Given the description of an element on the screen output the (x, y) to click on. 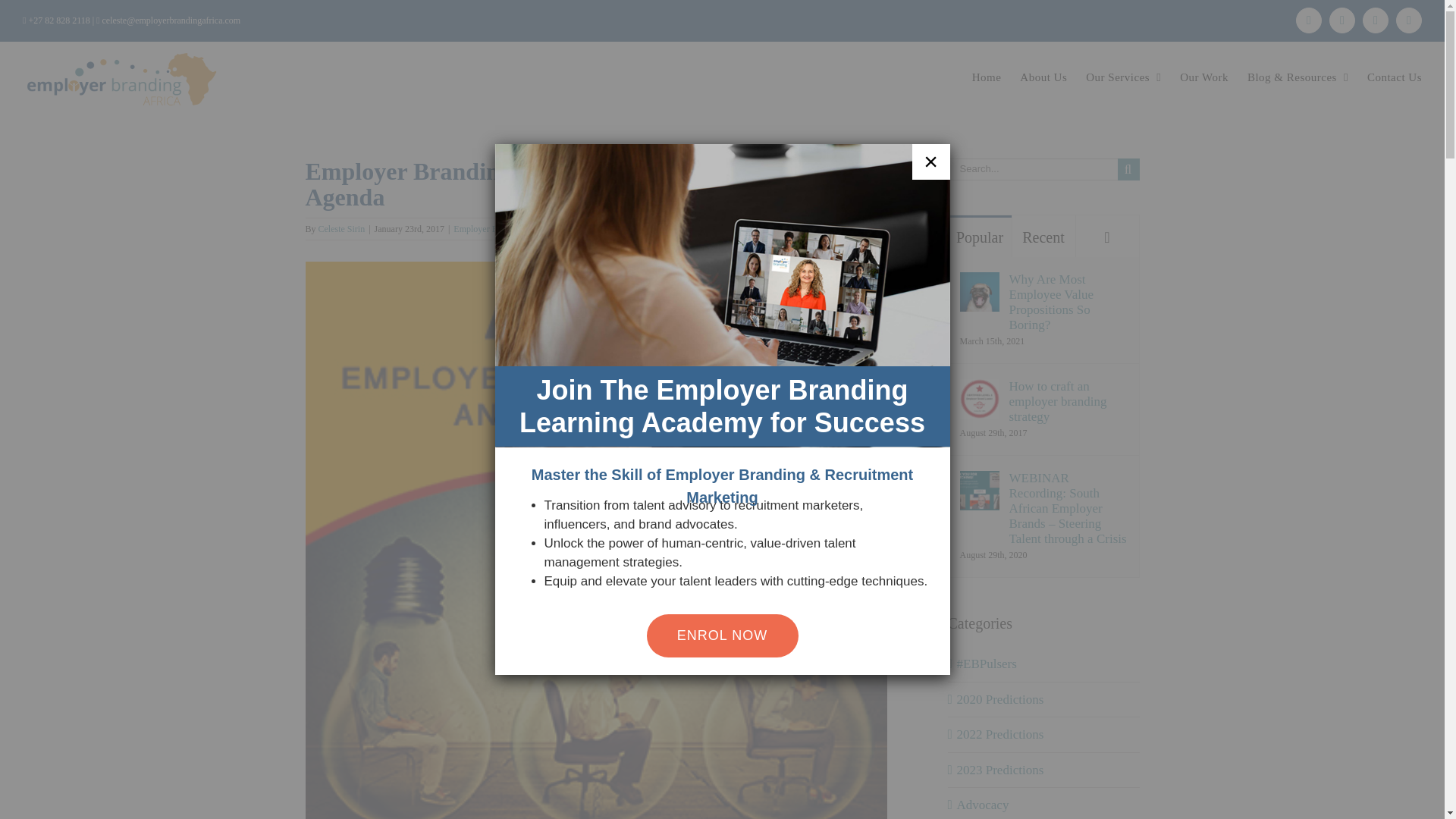
X (1342, 20)
LinkedIn (1308, 20)
Facebook (1375, 20)
LinkedIn (1308, 20)
Posts by Celeste Sirin (341, 227)
X (1342, 20)
Facebook (1375, 20)
Our Services (1123, 76)
YouTube (1409, 20)
YouTube (1409, 20)
